Given the description of an element on the screen output the (x, y) to click on. 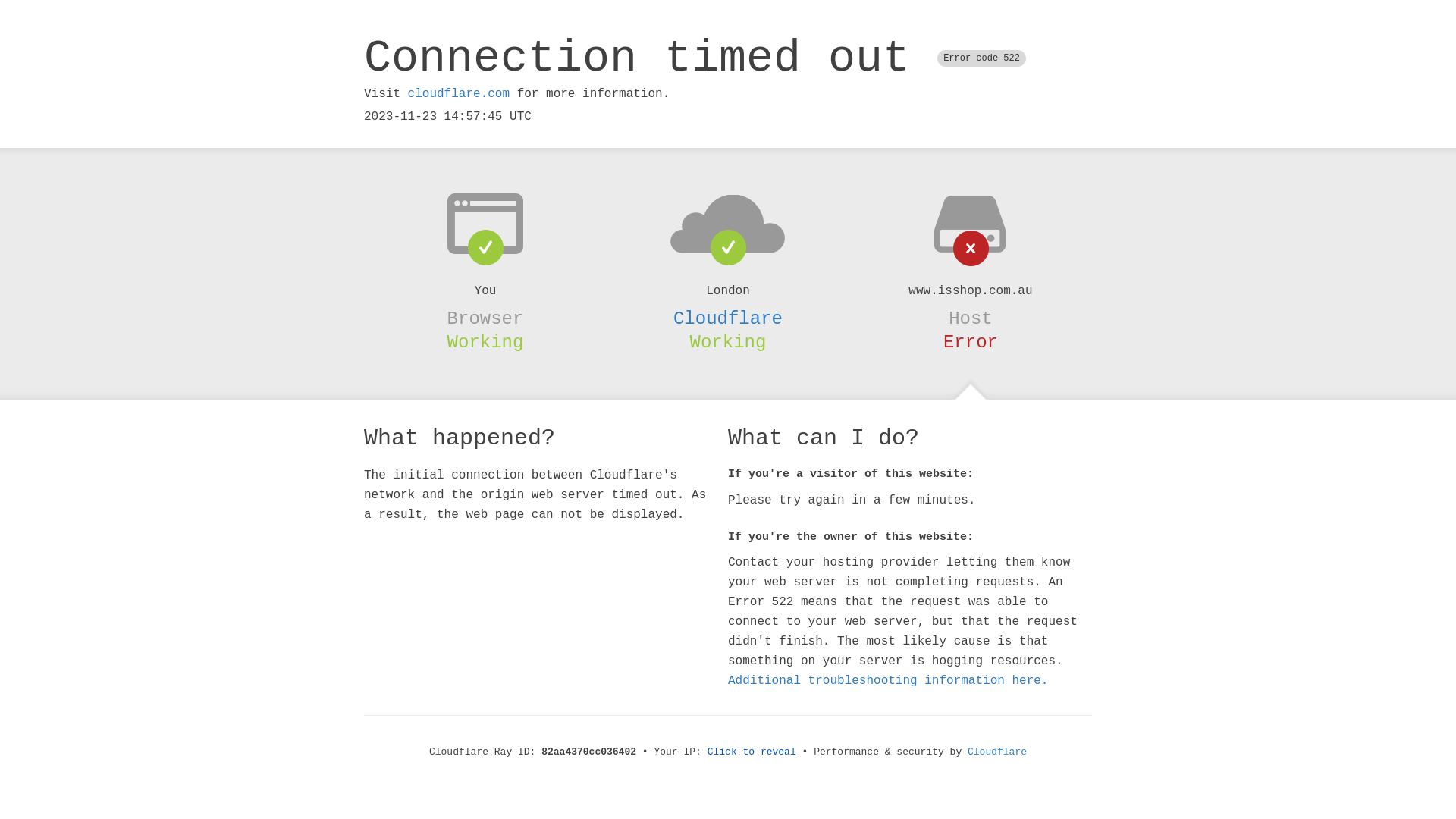
Click to reveal Element type: text (751, 751)
Additional troubleshooting information here. Element type: text (888, 680)
Cloudflare Element type: text (996, 751)
Cloudflare Element type: text (727, 318)
cloudflare.com Element type: text (458, 93)
